Given the description of an element on the screen output the (x, y) to click on. 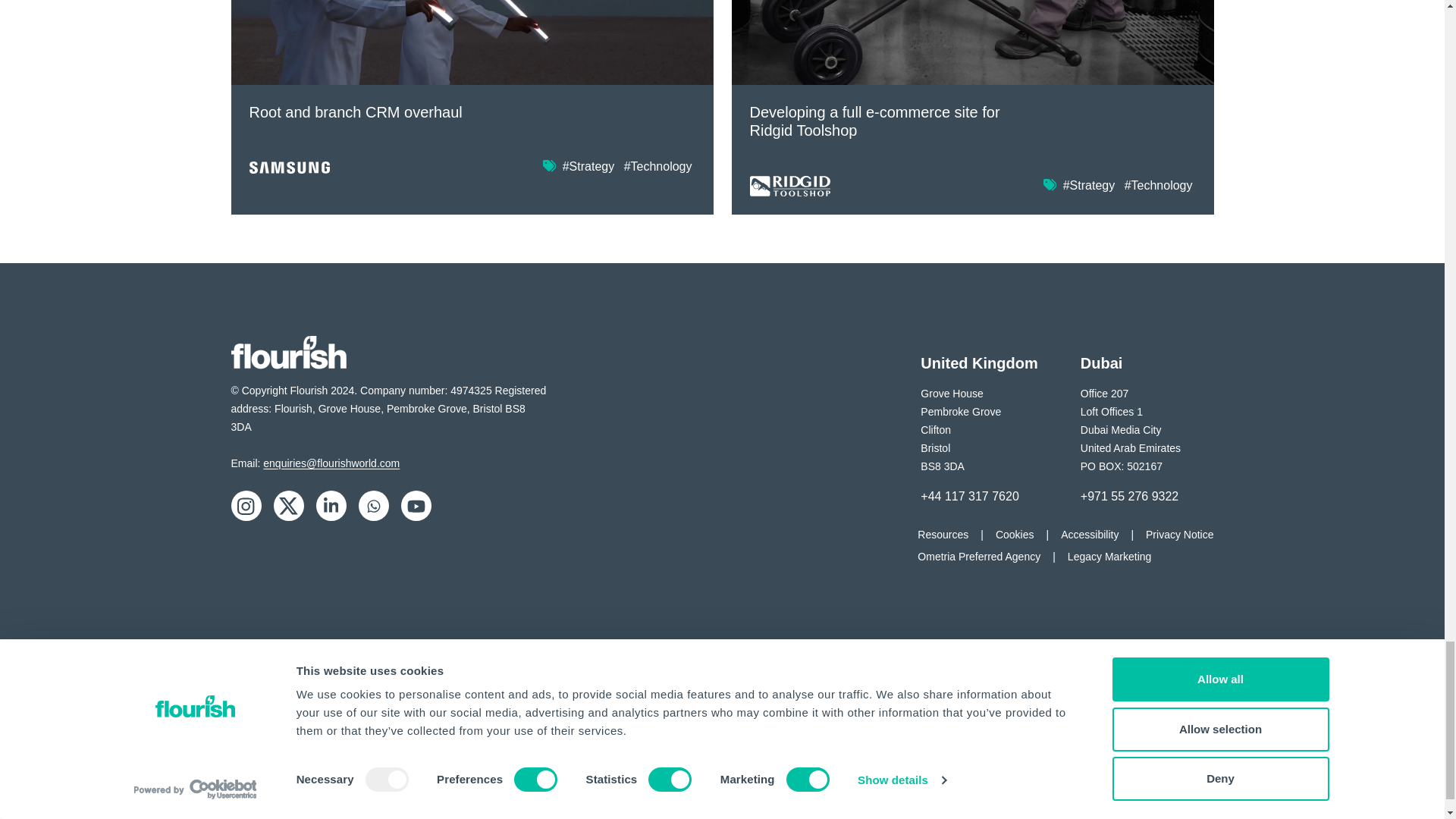
Flourish (288, 352)
